Given the description of an element on the screen output the (x, y) to click on. 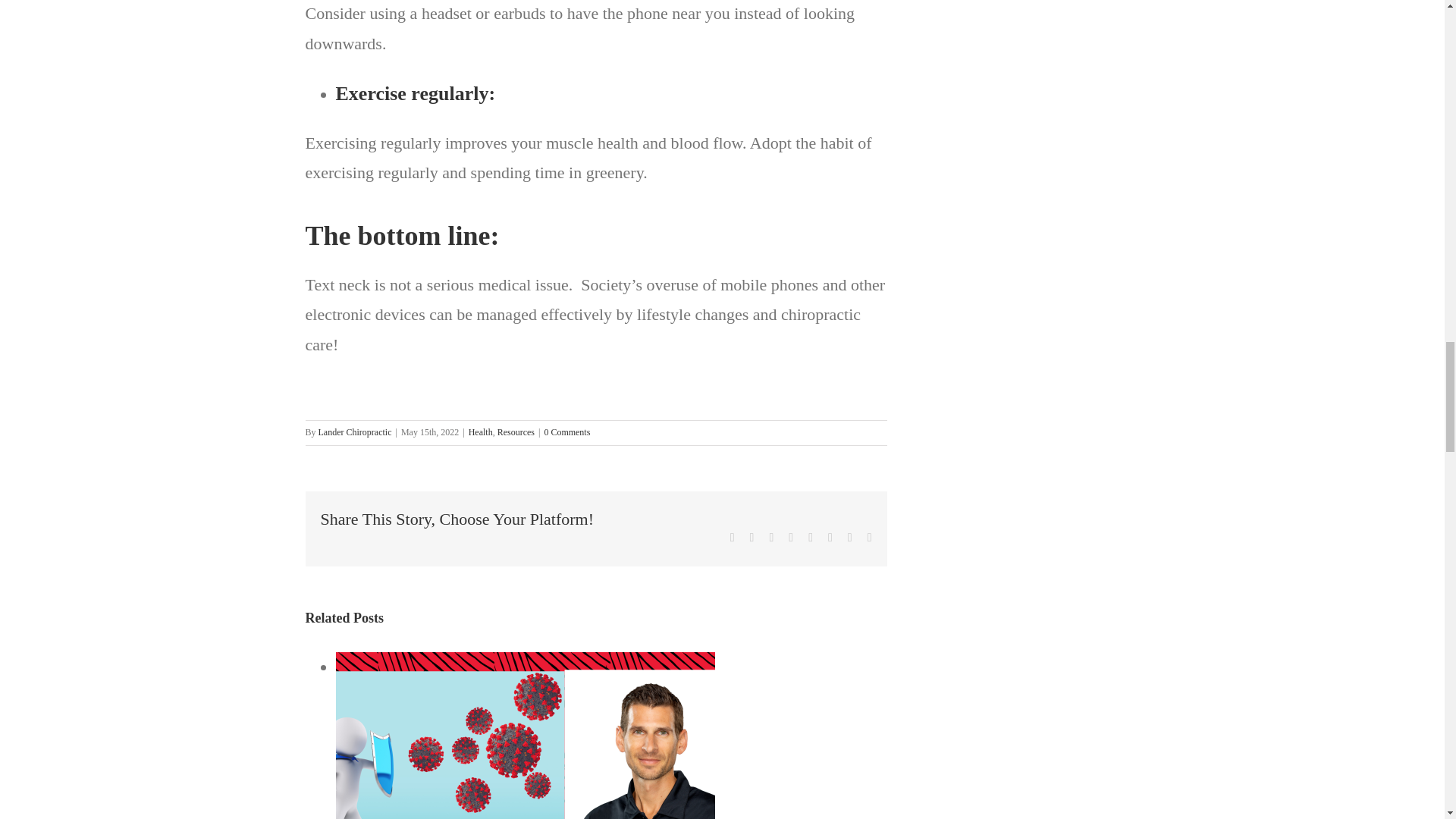
Health (480, 431)
0 Comments (566, 431)
Resources (515, 431)
Lander Chiropractic (354, 431)
Posts by Lander Chiropractic (354, 431)
